Given the description of an element on the screen output the (x, y) to click on. 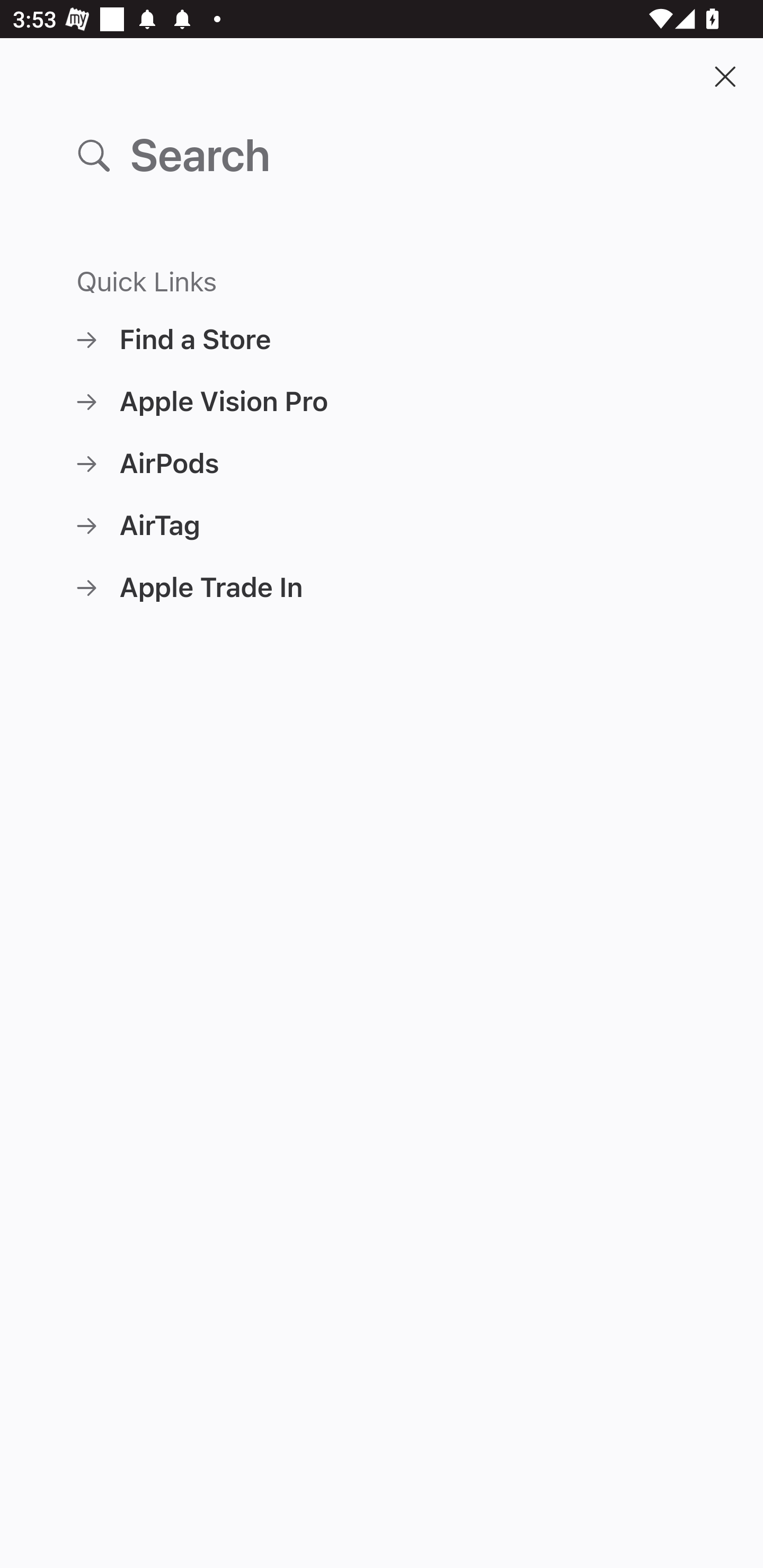
Close (724, 75)
Find a Store (381, 339)
Apple Vision Pro (381, 401)
AirPods (381, 463)
AirTag (381, 524)
Apple Trade In (381, 587)
